Given the description of an element on the screen output the (x, y) to click on. 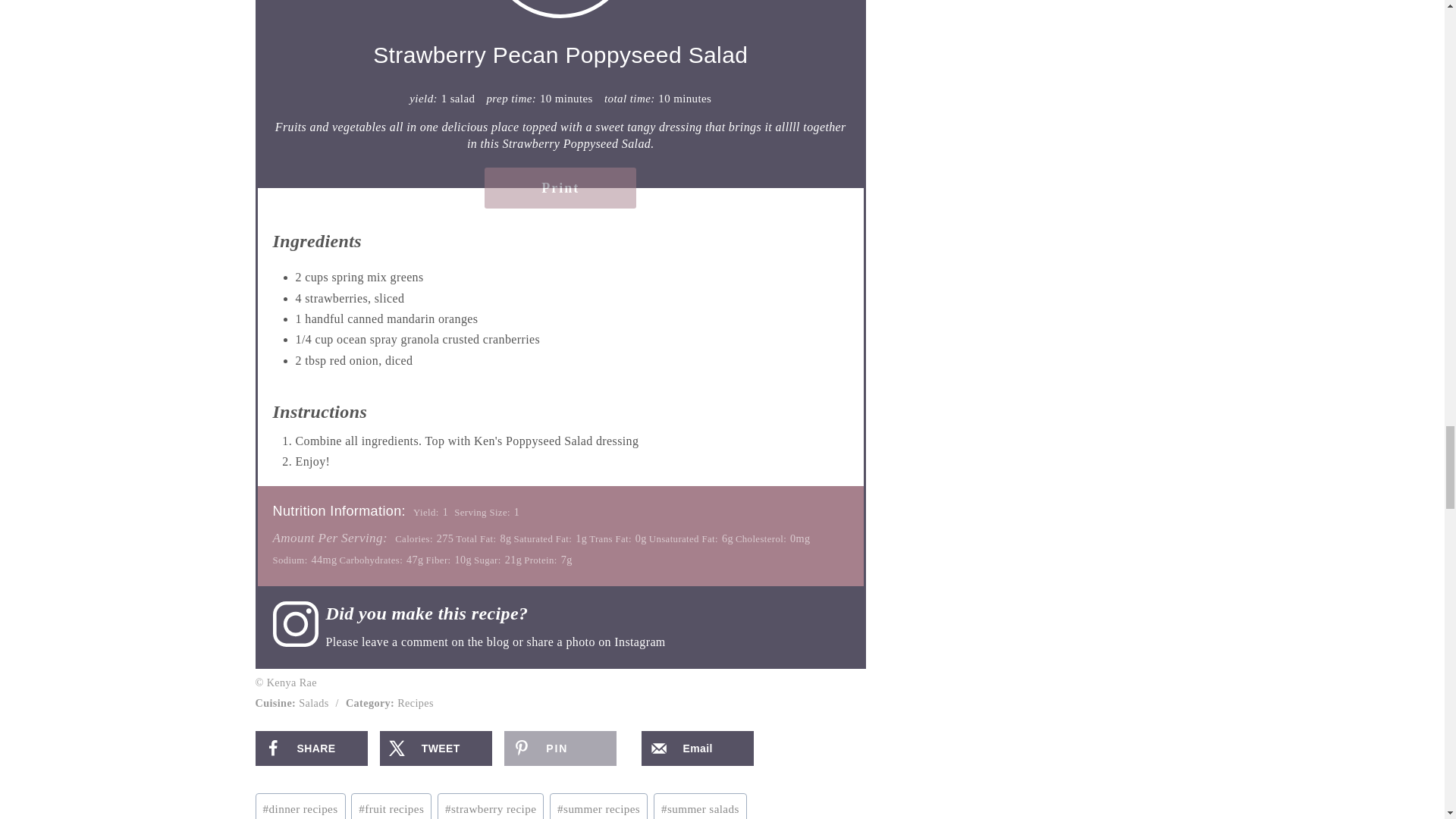
summer salads (699, 806)
Share on X (436, 748)
Print (560, 187)
Email (698, 748)
SHARE (310, 748)
Send over email (698, 748)
TWEET (436, 748)
Share on Facebook (310, 748)
summer recipes (598, 806)
dinner recipes (299, 806)
Save to Pinterest (559, 748)
strawberry recipe (491, 806)
fruit recipes (390, 806)
PIN (559, 748)
